Given the description of an element on the screen output the (x, y) to click on. 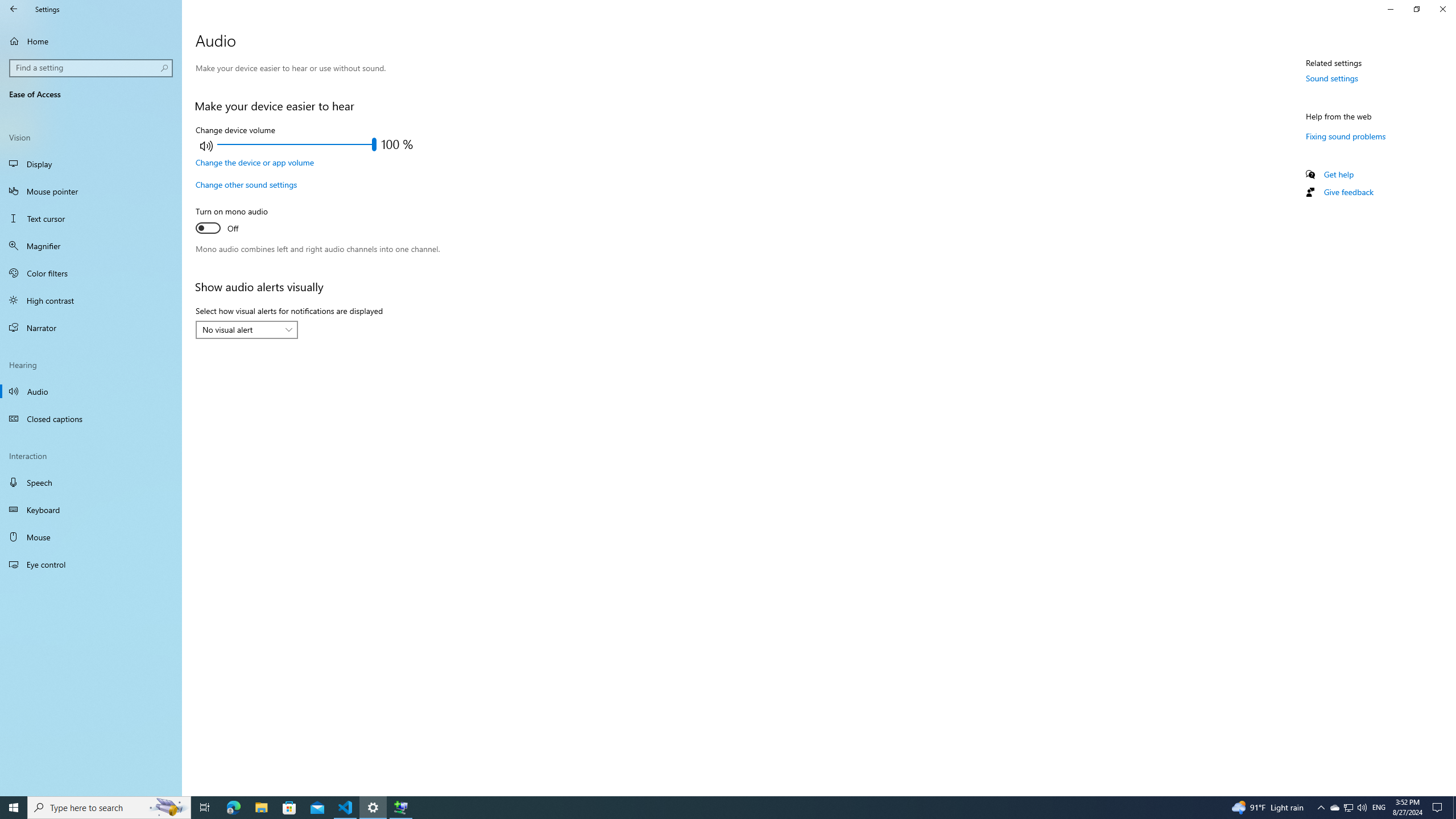
Change the device or app volume (254, 162)
Select how visual alerts for notifications are displayed (246, 330)
Color filters (91, 272)
Speech (91, 482)
